Given the description of an element on the screen output the (x, y) to click on. 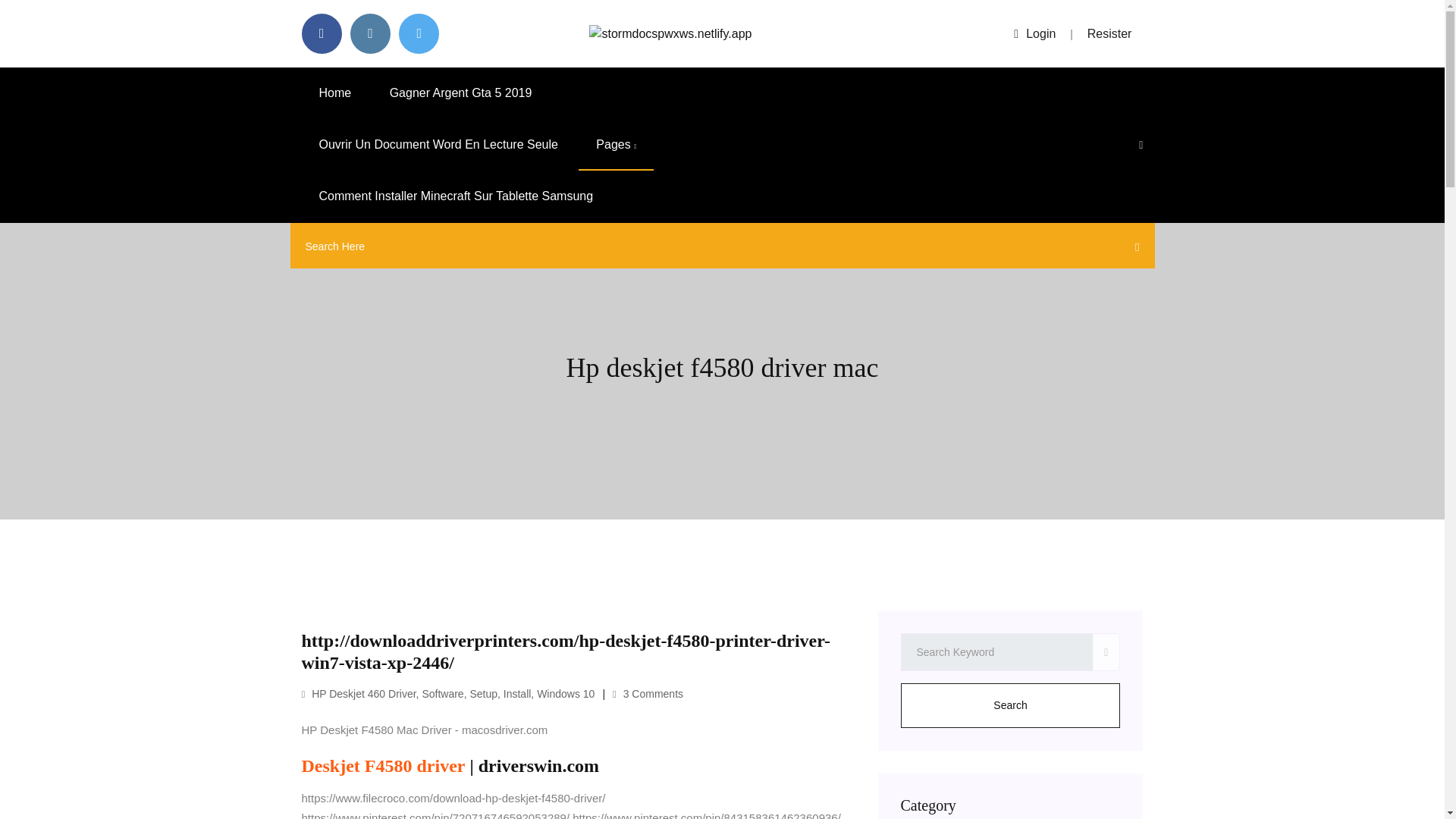
Login (1034, 33)
Pages (615, 144)
Gagner Argent Gta 5 2019 (461, 92)
Resister (1109, 33)
Home (335, 92)
Ouvrir Un Document Word En Lecture Seule (438, 144)
Comment Installer Minecraft Sur Tablette Samsung (456, 195)
HP Deskjet 460 Driver, Software, Setup, Install, Windows 10 (448, 693)
3 Comments (647, 693)
